Given the description of an element on the screen output the (x, y) to click on. 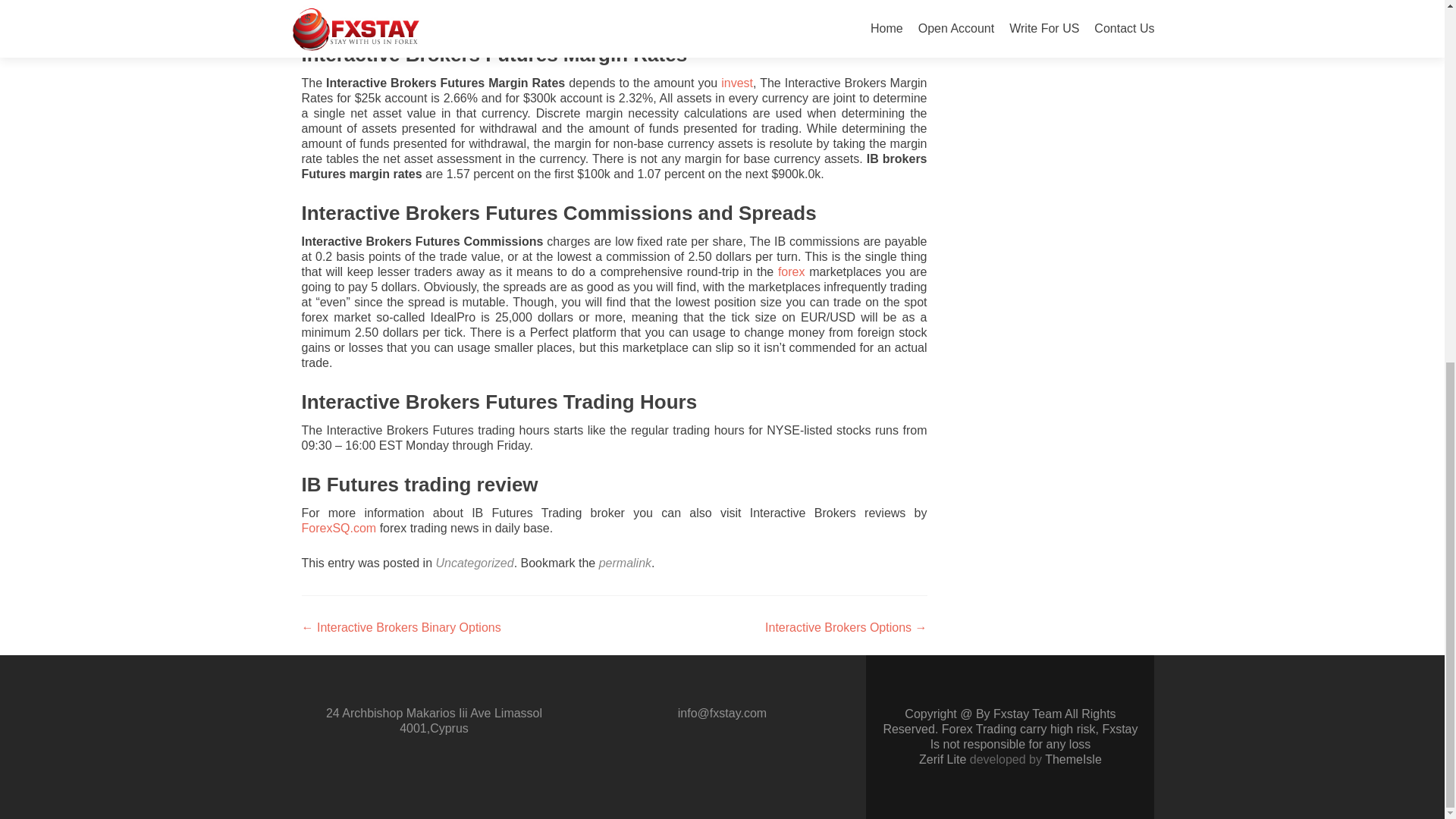
Zerif Lite (943, 758)
ThemeIsle (1073, 758)
ForexSQ.com (340, 527)
permalink (624, 562)
forex (791, 271)
invest (736, 82)
Uncategorized (474, 562)
